Given the description of an element on the screen output the (x, y) to click on. 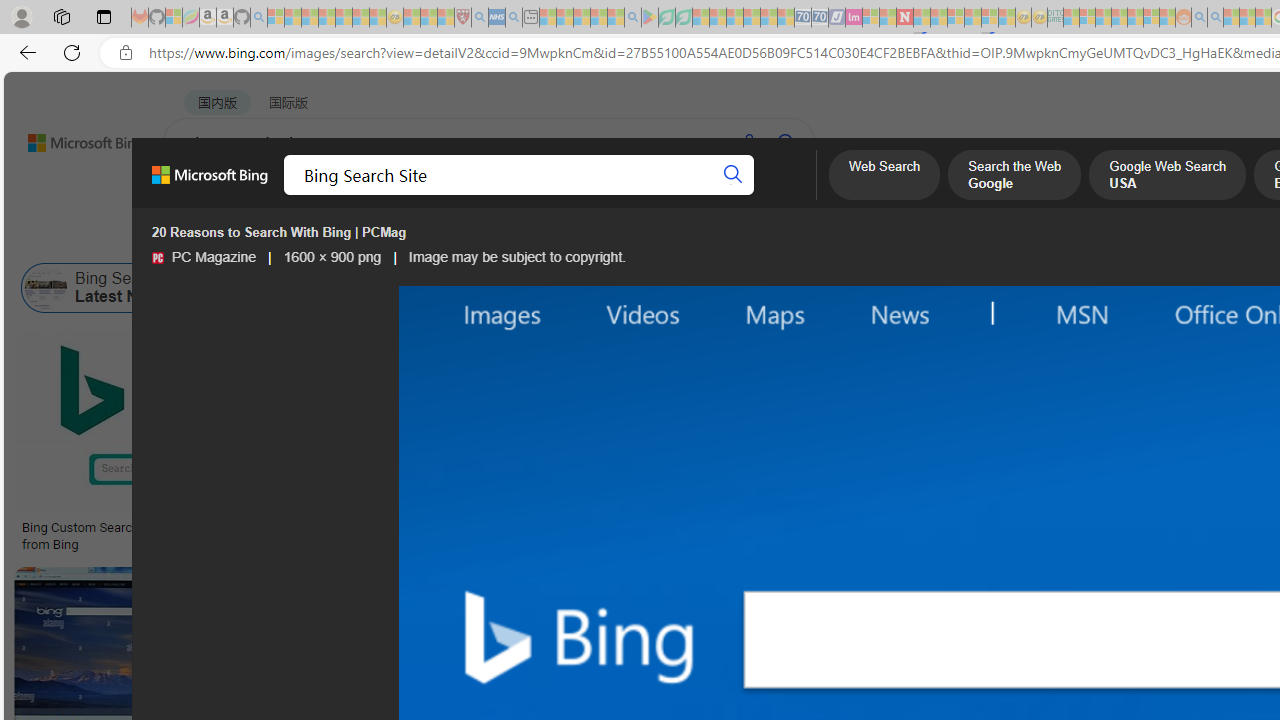
License (664, 237)
Bing - SEOLend (386, 528)
Bing Custom Search: A New Site Search Solution from BingSave (174, 444)
Date (591, 237)
Search using voice (748, 142)
Back to Bing search (73, 138)
